Given the description of an element on the screen output the (x, y) to click on. 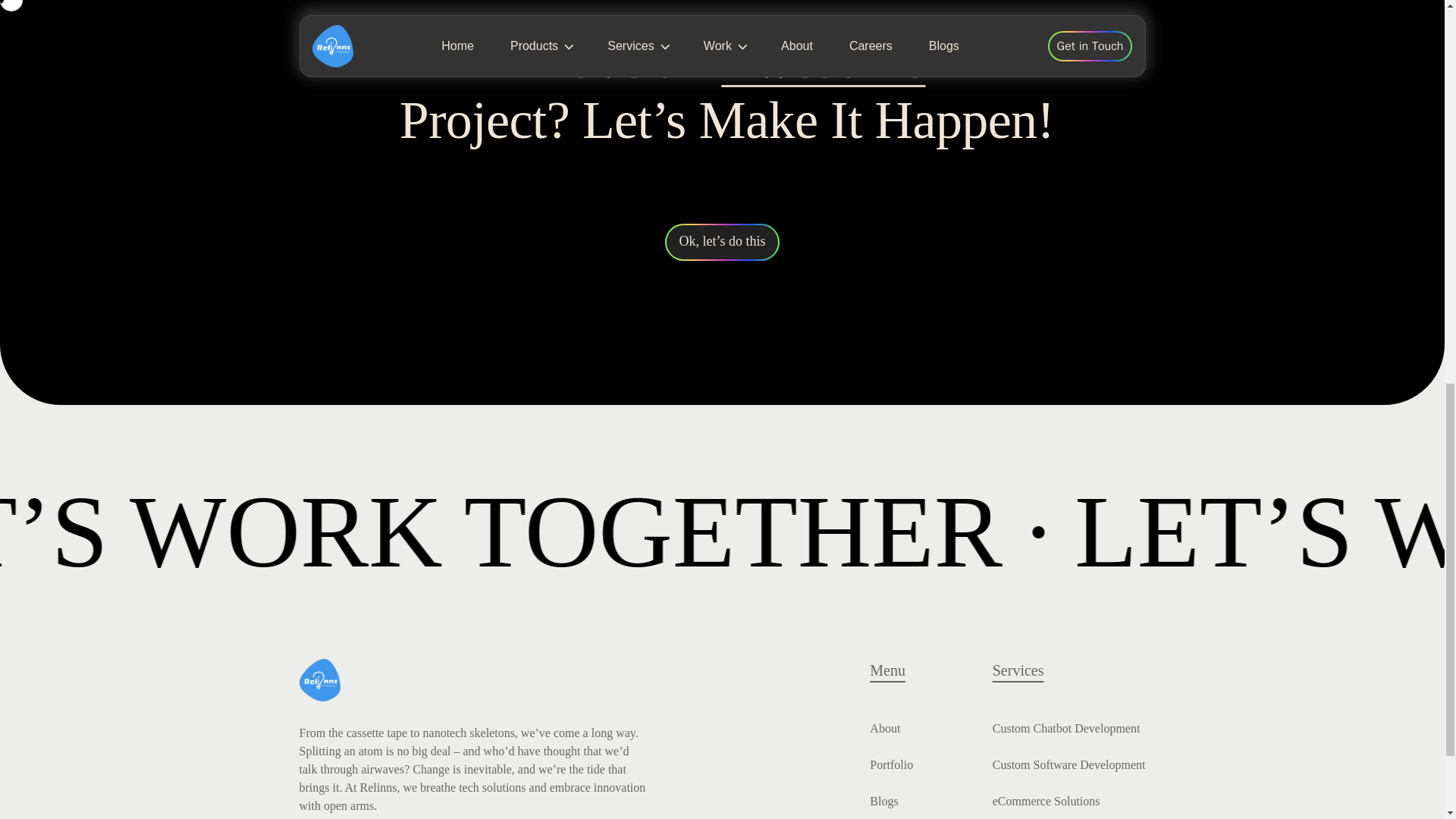
Portfolio (890, 764)
About (884, 727)
